Given the description of an element on the screen output the (x, y) to click on. 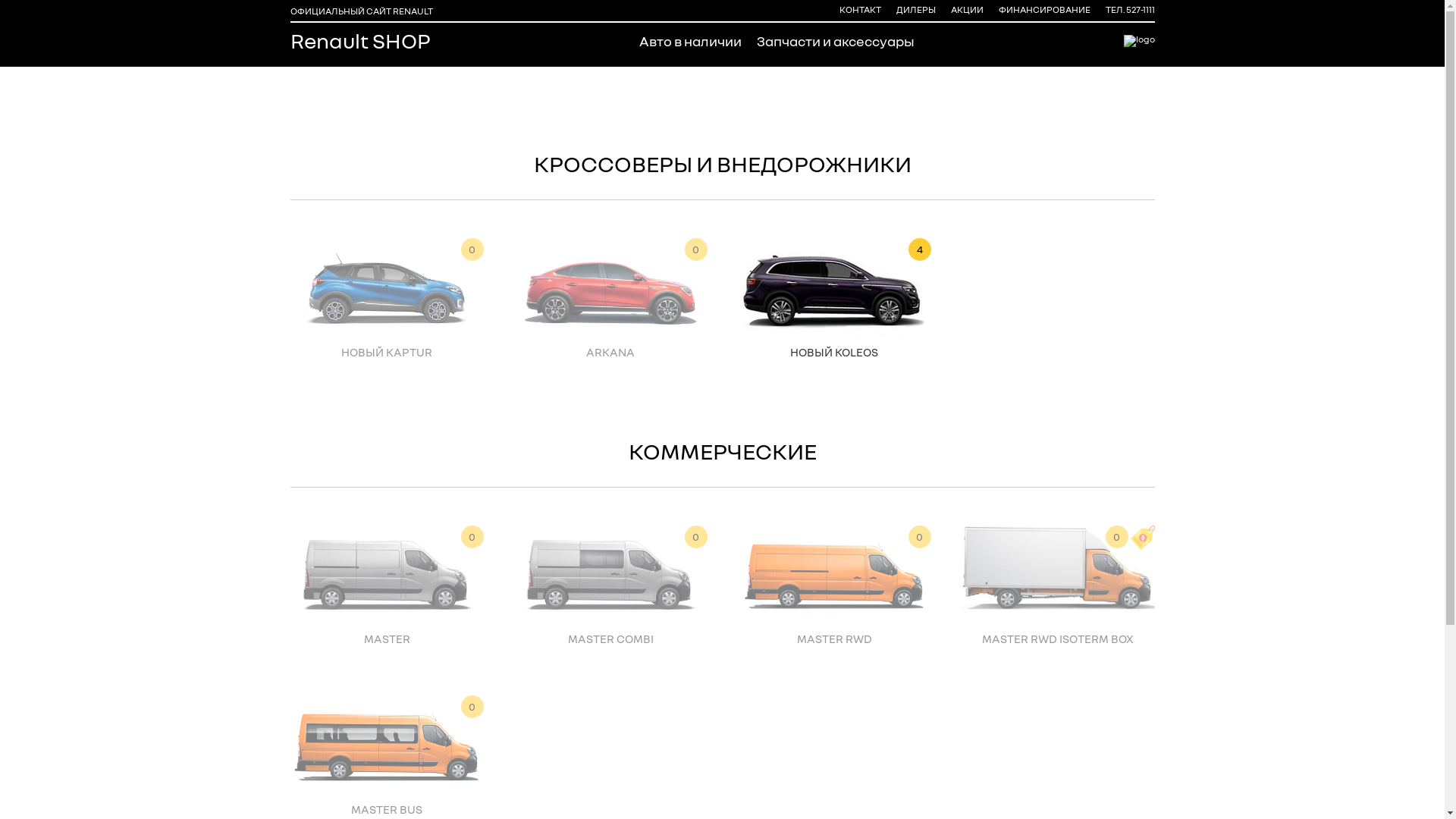
0 Element type: text (1057, 572)
0 Element type: text (610, 286)
0 Element type: text (610, 572)
0 Element type: text (833, 572)
0 Element type: text (386, 572)
0 Element type: text (386, 286)
0 Element type: text (386, 743)
4 Element type: text (833, 286)
Renault SHOP Element type: text (359, 40)
